Given the description of an element on the screen output the (x, y) to click on. 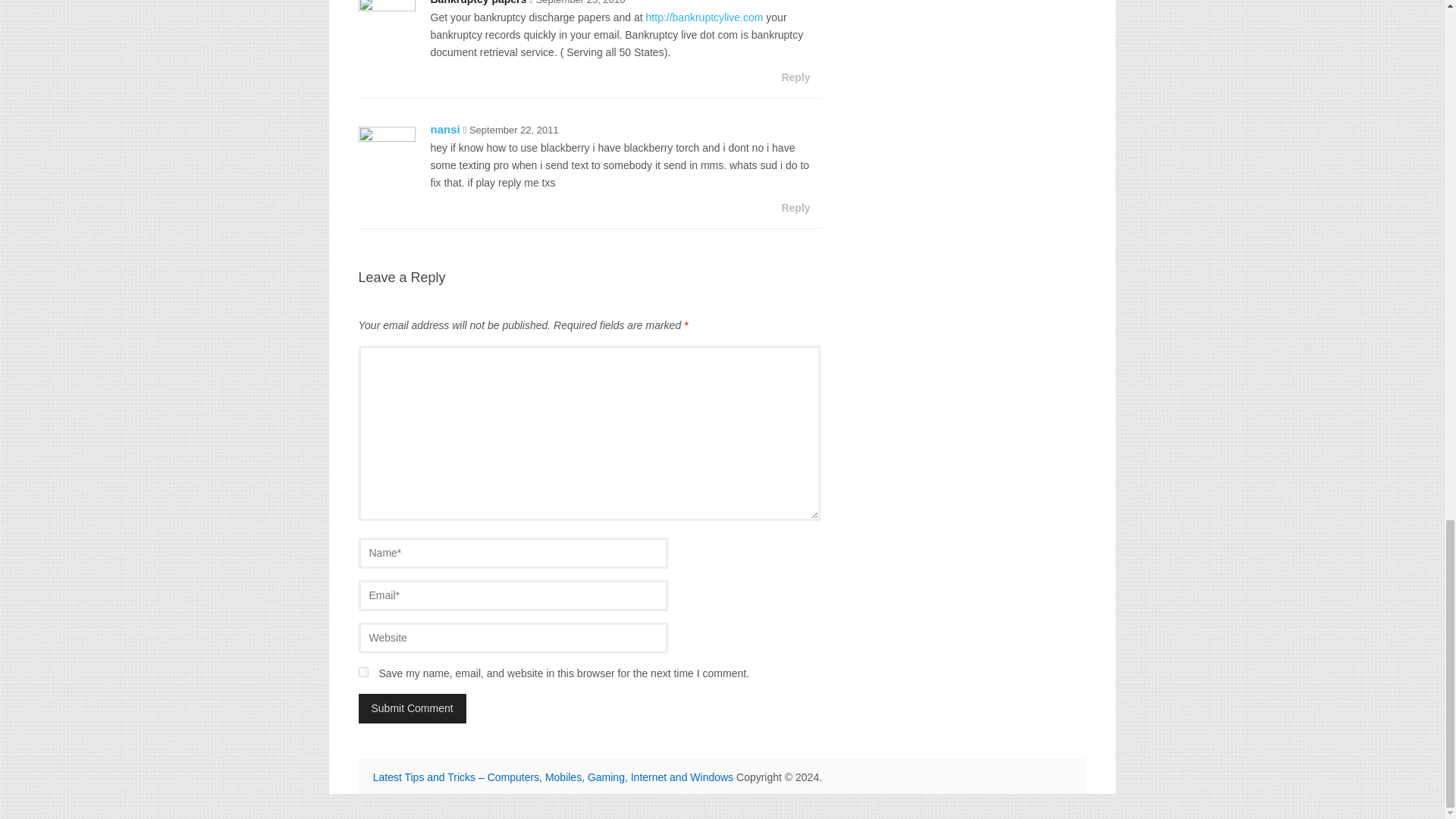
yes (363, 672)
Submit Comment (411, 708)
